Given the description of an element on the screen output the (x, y) to click on. 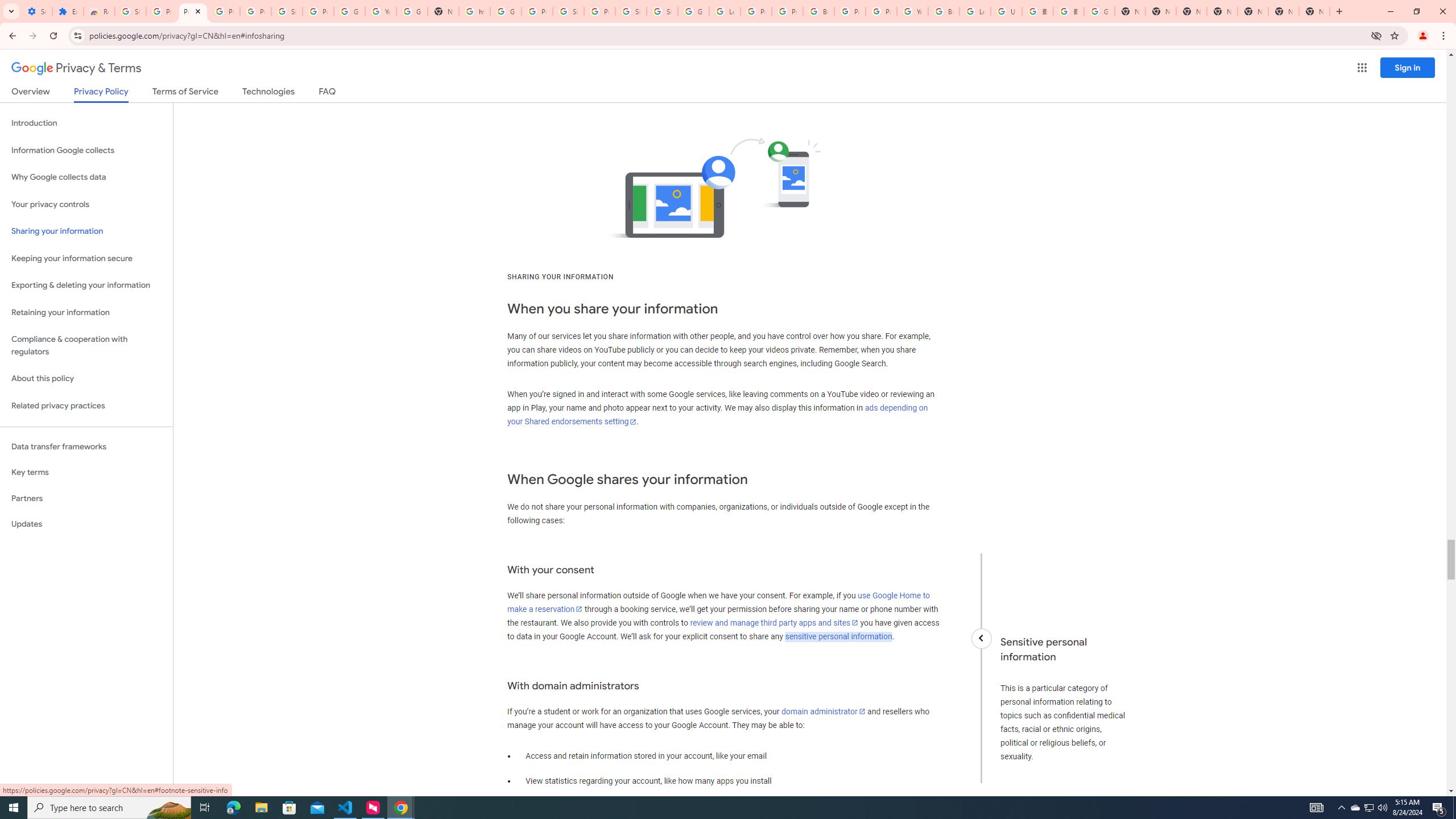
About this policy (86, 379)
Privacy Help Center - Policies Help (756, 11)
New Tab (1314, 11)
Introduction (86, 122)
review and manage third party apps and sites (774, 622)
Extensions (67, 11)
